Given the description of an element on the screen output the (x, y) to click on. 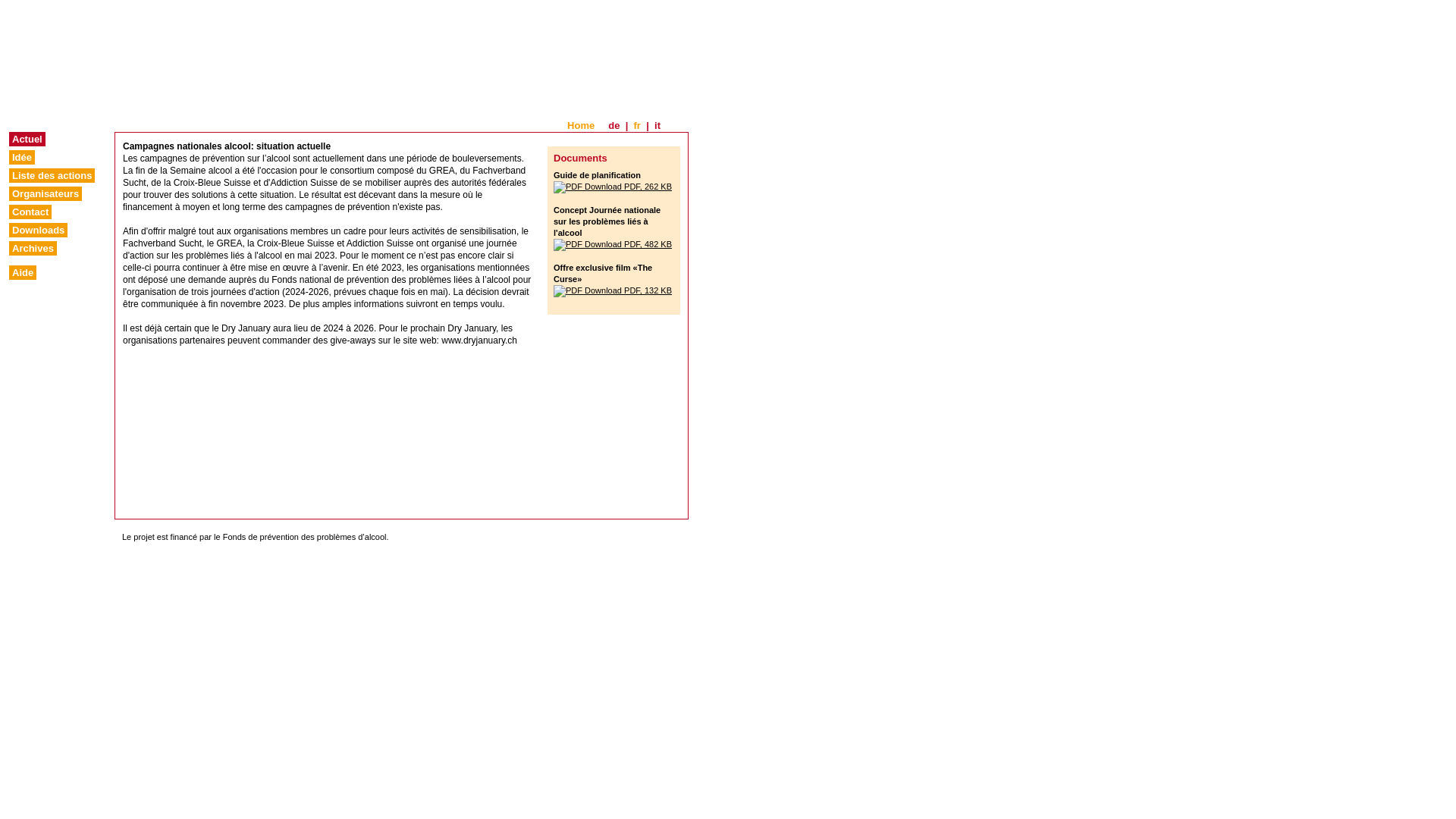
Organisateurs Element type: text (45, 193)
Downloads Element type: text (38, 229)
 PDF, 132 KB Element type: text (612, 289)
 PDF, 262 KB Element type: text (612, 186)
Aide Element type: text (22, 272)
it Element type: text (657, 125)
Archives Element type: text (32, 248)
 PDF, 482 KB Element type: text (612, 243)
Contact Element type: text (30, 211)
Liste des actions Element type: text (51, 175)
de Element type: text (613, 125)
